Given the description of an element on the screen output the (x, y) to click on. 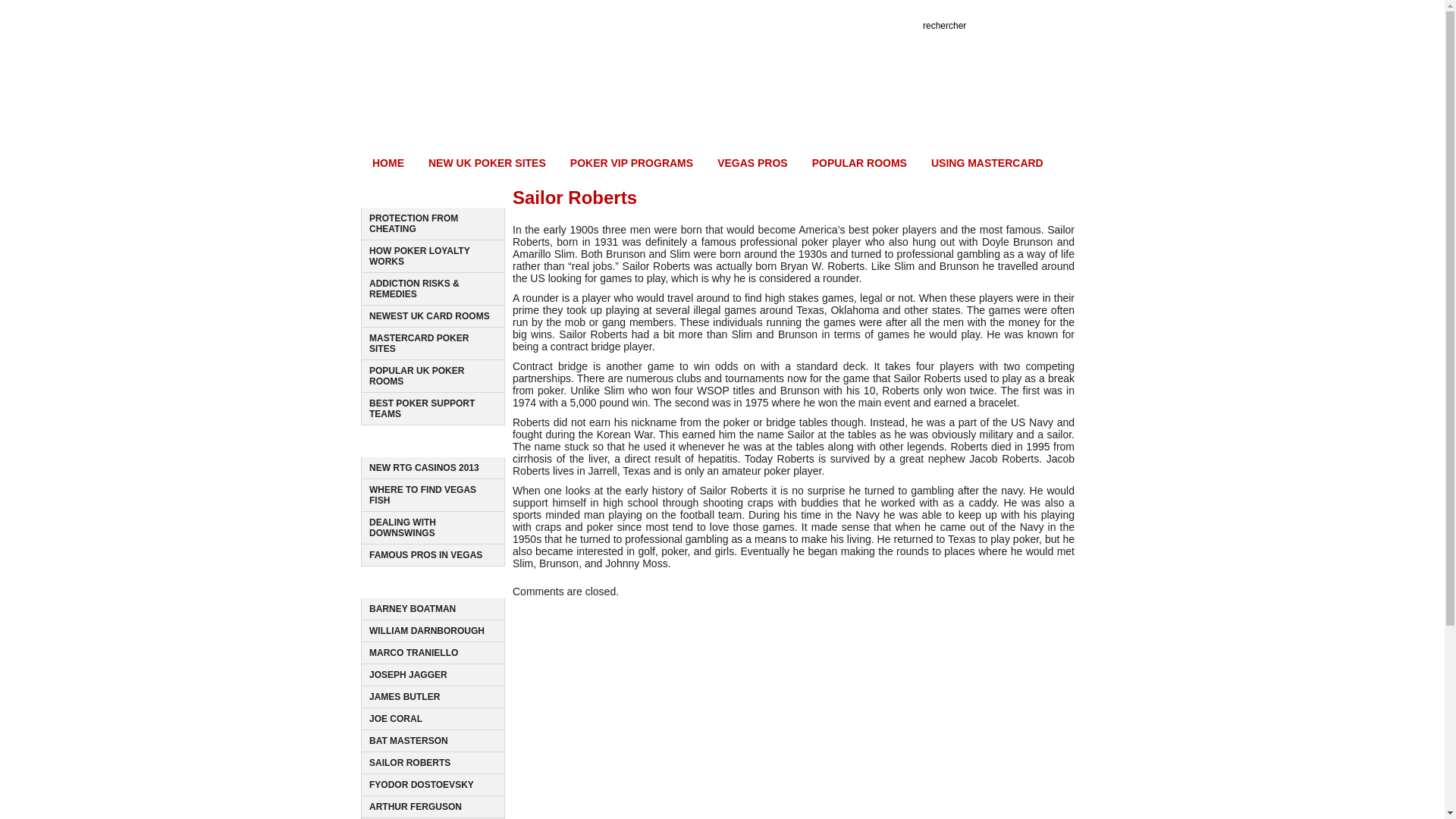
rechercher (1075, 25)
POPULAR ROOMS (859, 165)
SAILOR ROBERTS (409, 762)
BAT MASTERSON (408, 740)
NEW RTG CASINOS 2013 (424, 467)
MARCO TRANIELLO (442, 584)
rechercher (413, 652)
DEALING WITH DOWNSWINGS (955, 25)
POKER VIP PROGRAMS (402, 527)
